Given the description of an element on the screen output the (x, y) to click on. 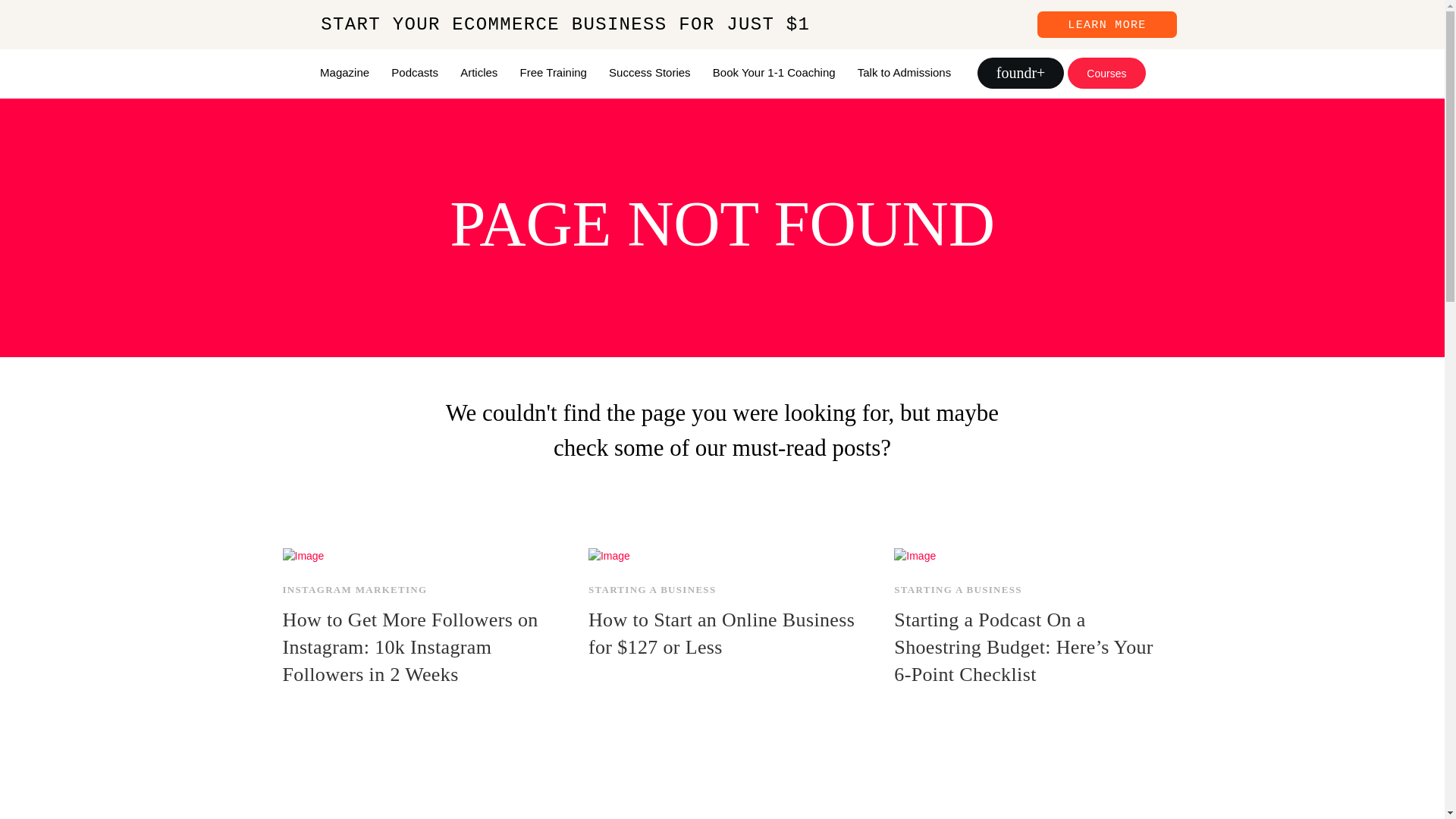
Free Training (548, 71)
Articles (472, 71)
STARTING A BUSINESS (957, 589)
Podcasts (408, 71)
LEARN MORE (1106, 24)
Success Stories (644, 71)
Magazine (338, 71)
Foundr (246, 71)
STARTING A BUSINESS (652, 589)
Book Your 1-1 Coaching (768, 71)
INSTAGRAM MARKETING (354, 589)
Talk to Admissions (899, 71)
Courses (1105, 72)
